Given the description of an element on the screen output the (x, y) to click on. 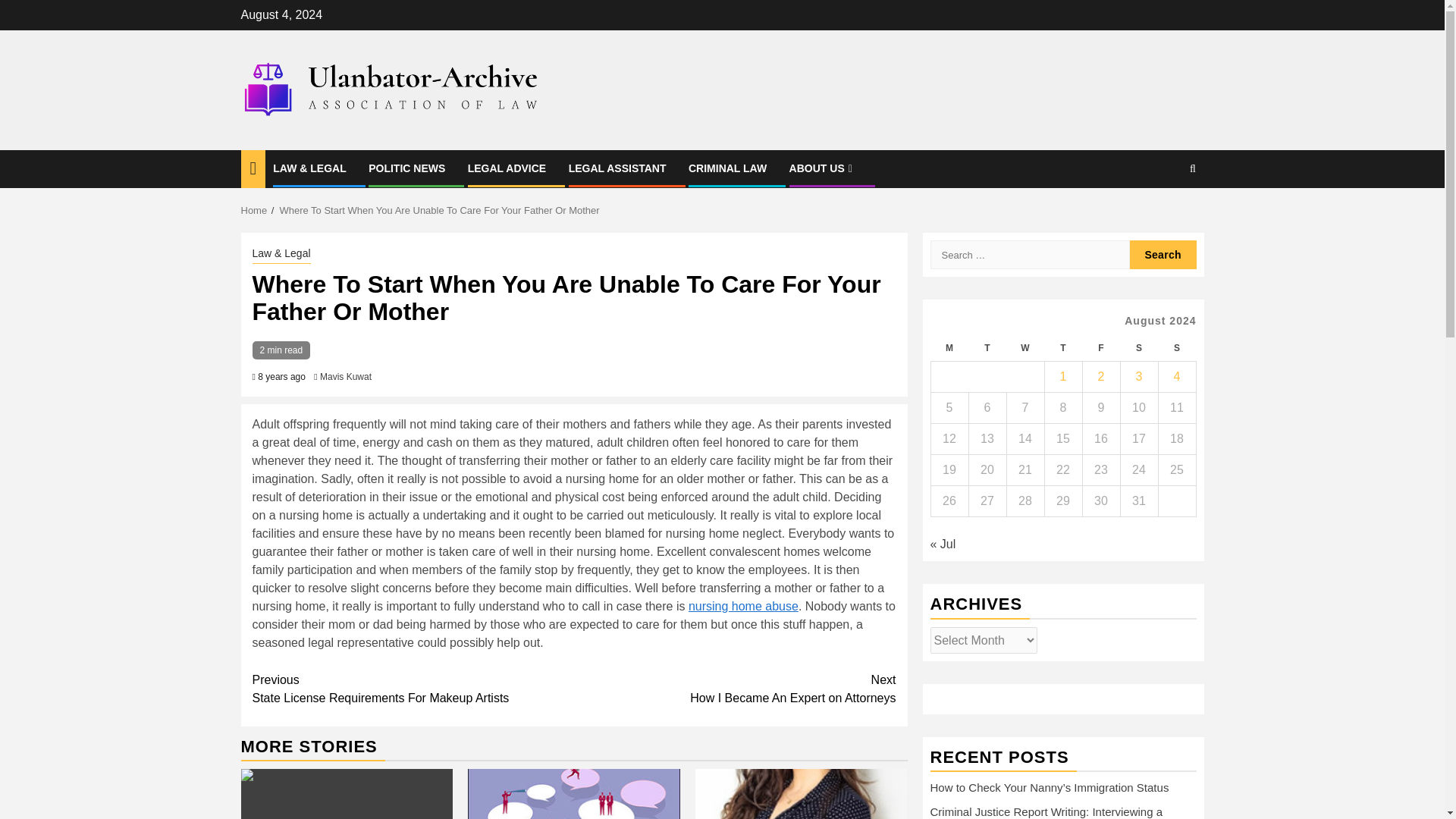
Thursday (1062, 347)
Home (254, 210)
ABOUT US (412, 688)
Search (822, 168)
Oxford Languages (1162, 254)
POLITIC NEWS (573, 794)
Saturday (406, 168)
Friday (1138, 347)
Monday (734, 688)
Wednesday (1100, 347)
LEGAL ASSISTANT (949, 347)
Search (1024, 347)
